Given the description of an element on the screen output the (x, y) to click on. 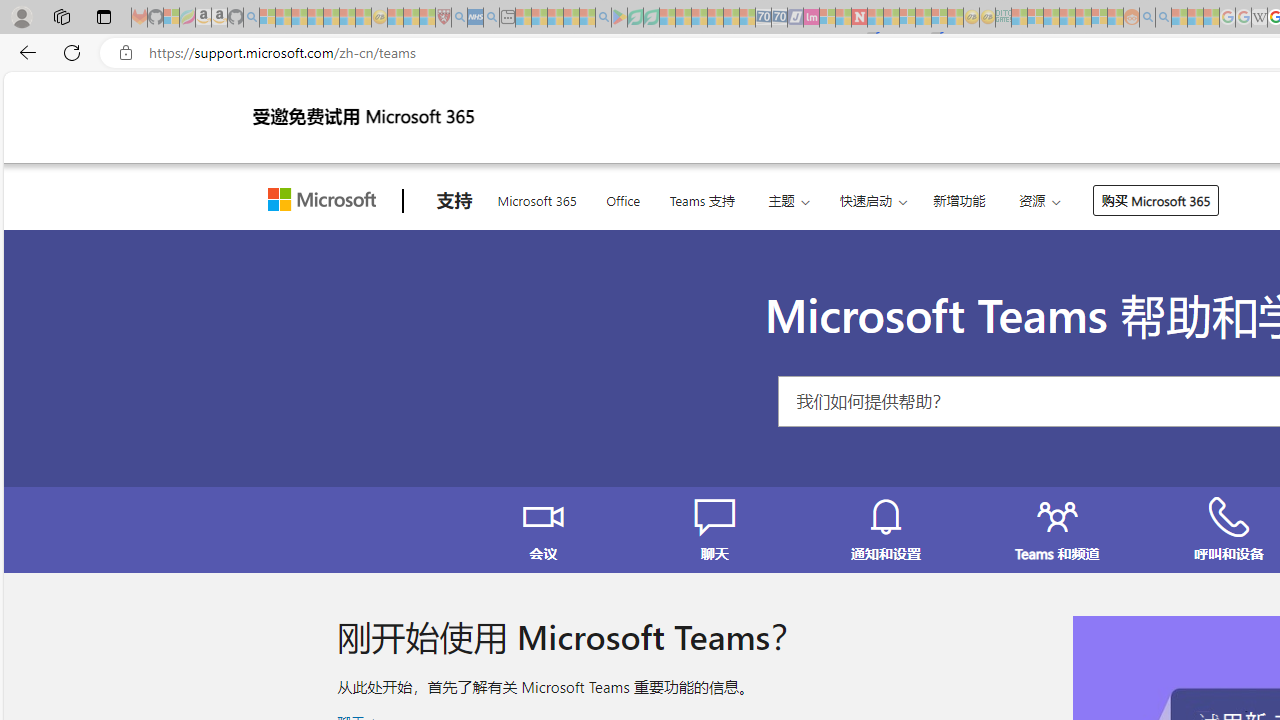
NCL Adult Asthma Inhaler Choice Guideline - Sleeping (475, 17)
Cheap Hotels - Save70.com - Sleeping (779, 17)
Refresh (72, 52)
The Weather Channel - MSN - Sleeping (299, 17)
Microsoft-Report a Concern to Bing - Sleeping (171, 17)
list of asthma inhalers uk - Search - Sleeping (459, 17)
DITOGAMES AG Imprint - Sleeping (1003, 17)
Recipes - MSN - Sleeping (395, 17)
google - Search - Sleeping (603, 17)
Cheap Car Rentals - Save70.com - Sleeping (763, 17)
Local - MSN - Sleeping (427, 17)
